Given the description of an element on the screen output the (x, y) to click on. 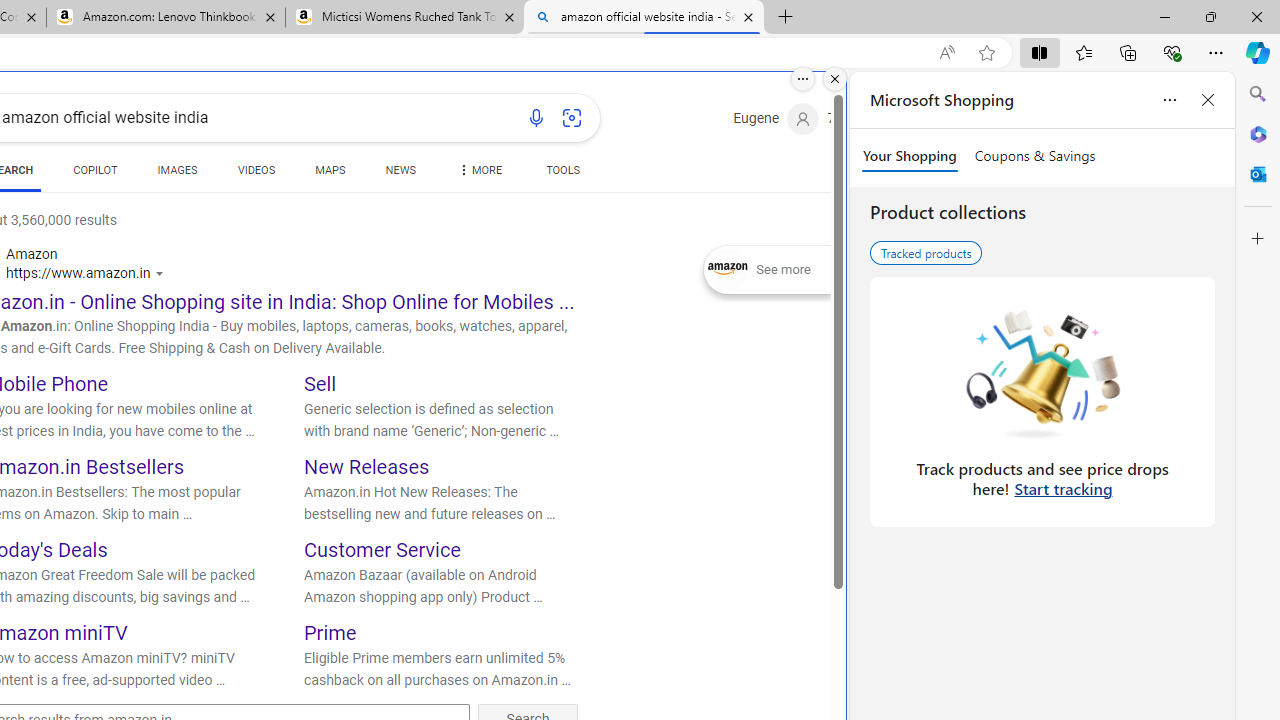
COPILOT (95, 170)
New Releases (367, 466)
Prime (330, 632)
TOOLS (562, 170)
NEWS (400, 173)
Dropdown Menu (478, 170)
MORE (478, 173)
